Given the description of an element on the screen output the (x, y) to click on. 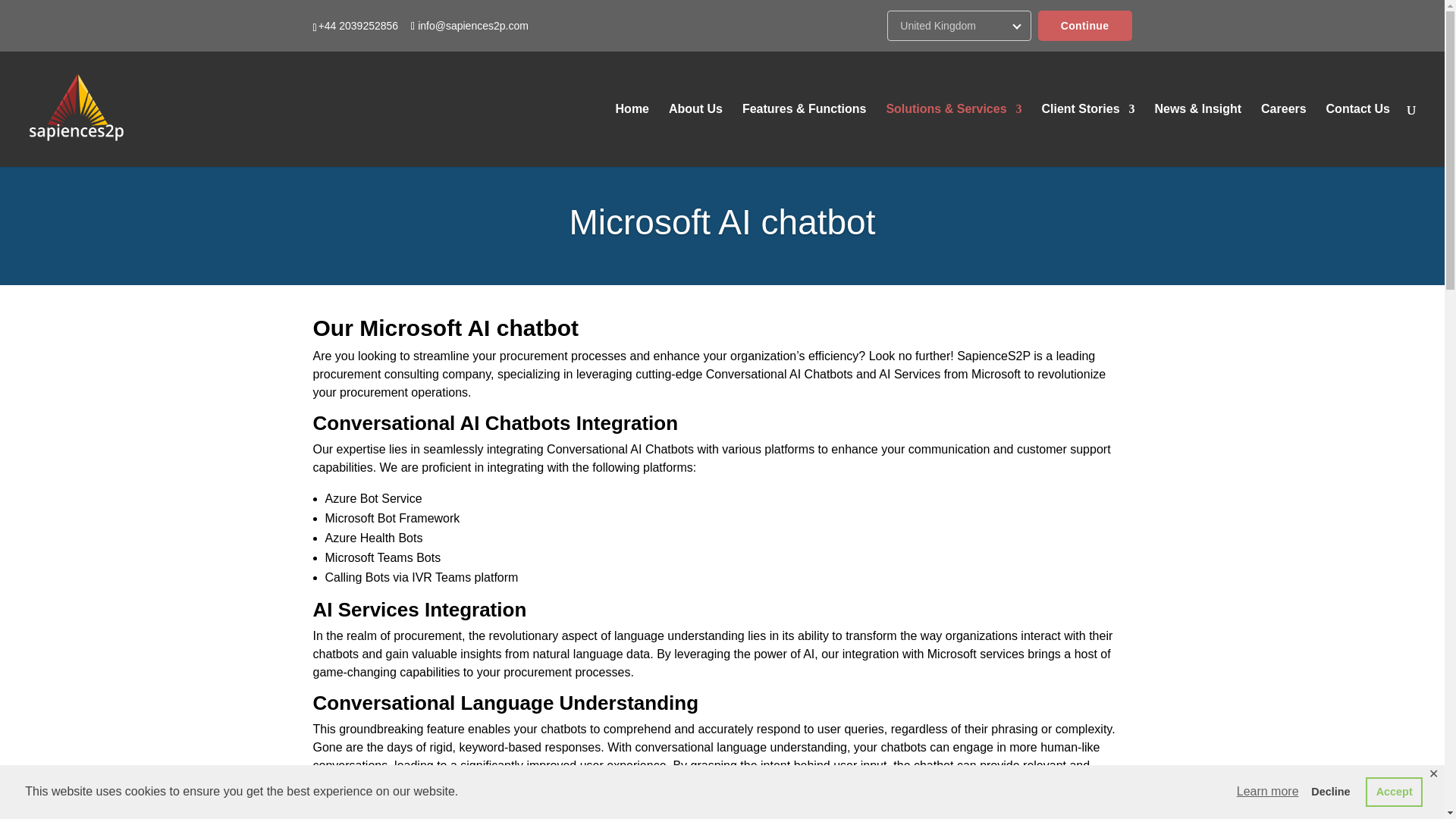
Contact Us (1358, 135)
Continue (1085, 25)
Client Stories (1087, 135)
Accept (1393, 791)
Decline (1330, 791)
Learn more (1267, 791)
